Given the description of an element on the screen output the (x, y) to click on. 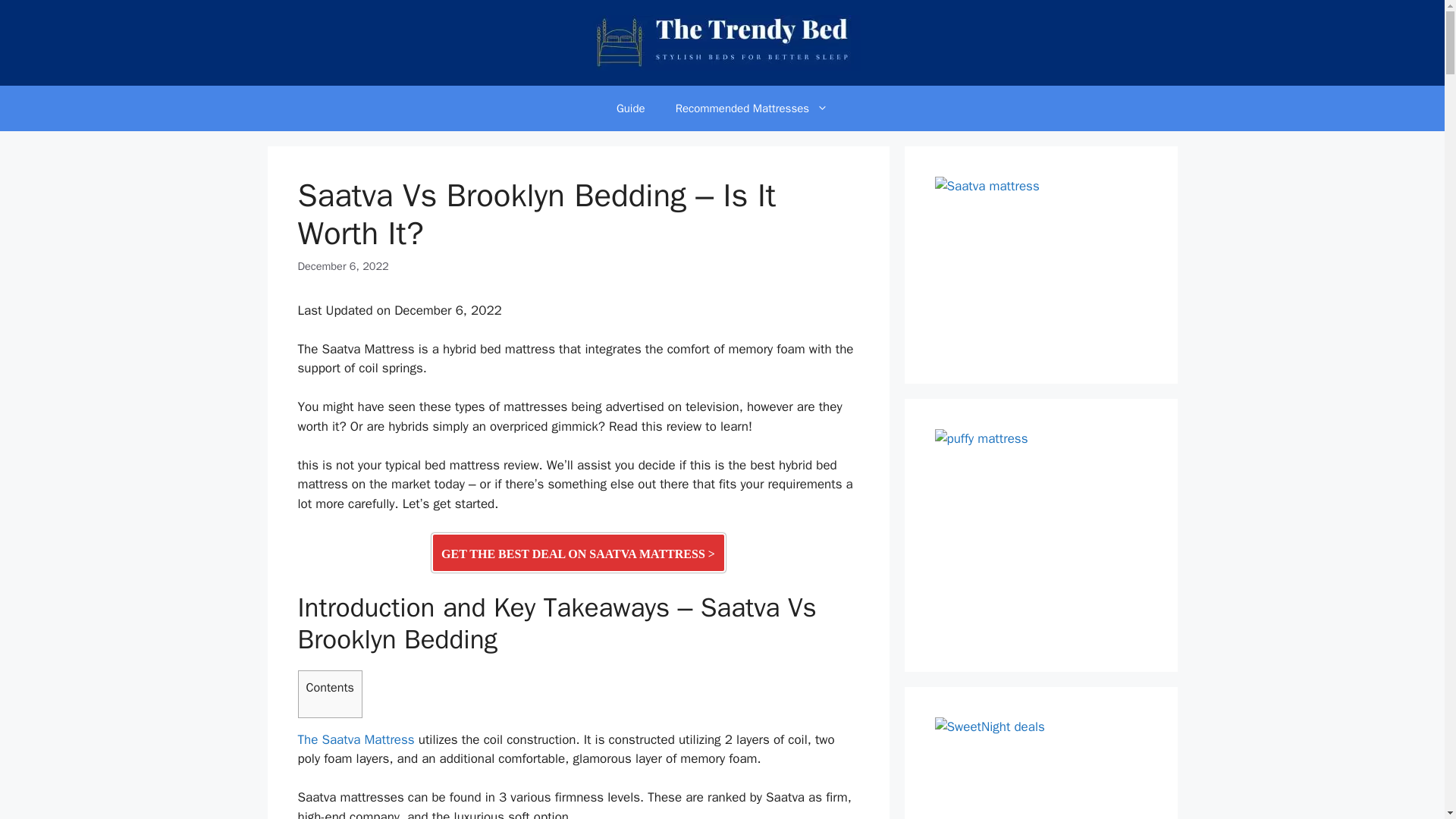
The Saatva Mattress (355, 739)
Guide (631, 108)
Recommended Mattresses (752, 108)
